Given the description of an element on the screen output the (x, y) to click on. 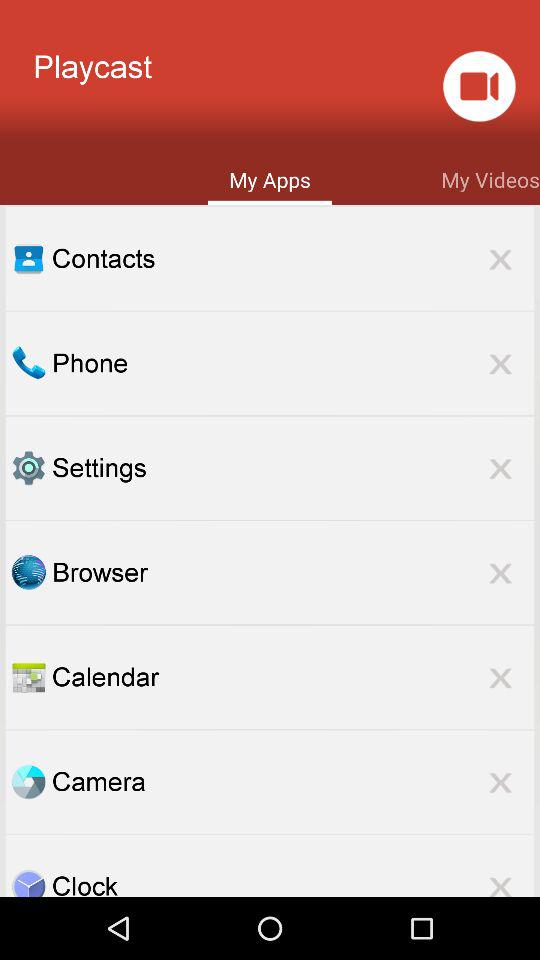
scroll until the my videos item (490, 178)
